Given the description of an element on the screen output the (x, y) to click on. 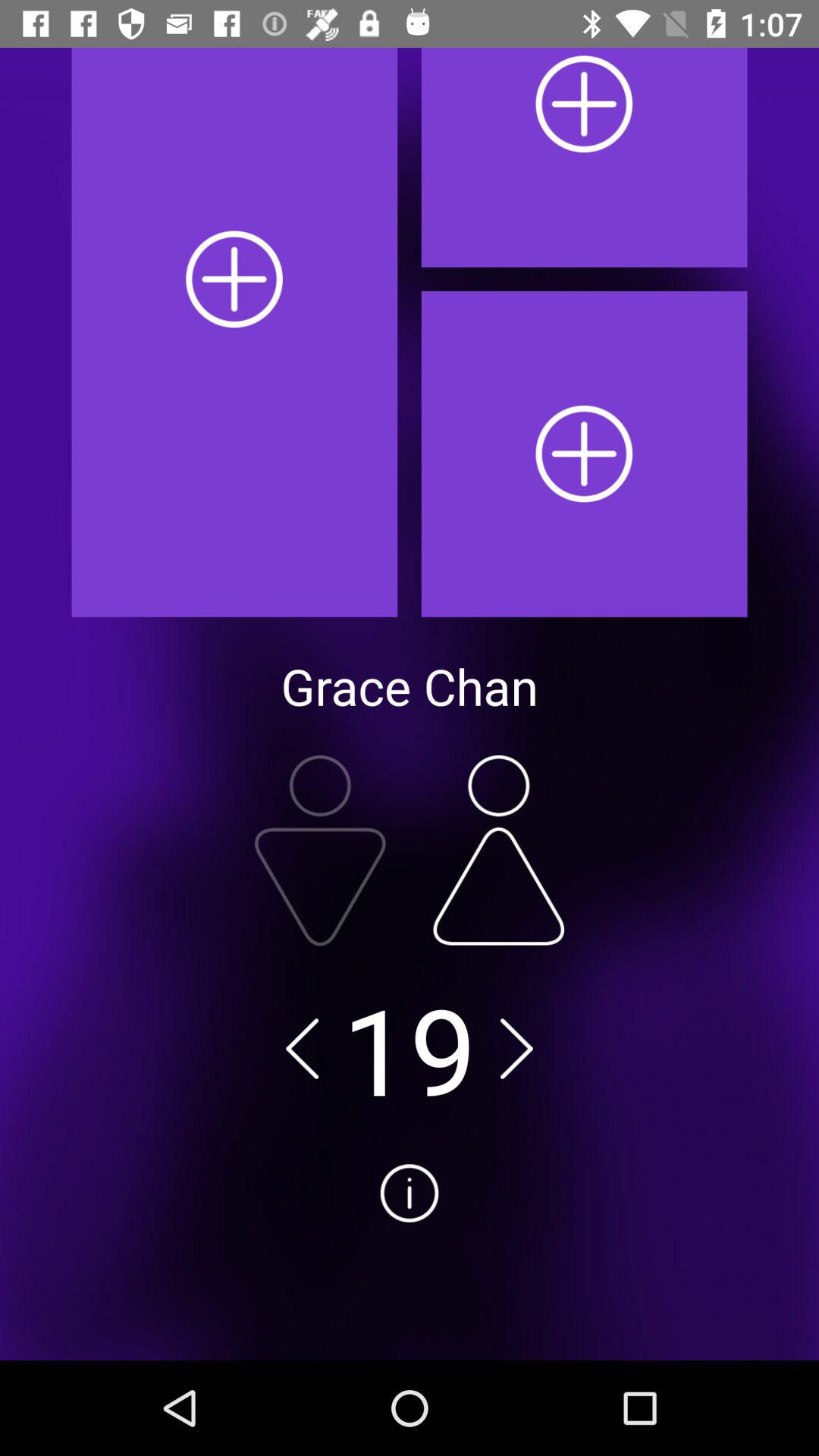
photo edit app (319, 850)
